Given the description of an element on the screen output the (x, y) to click on. 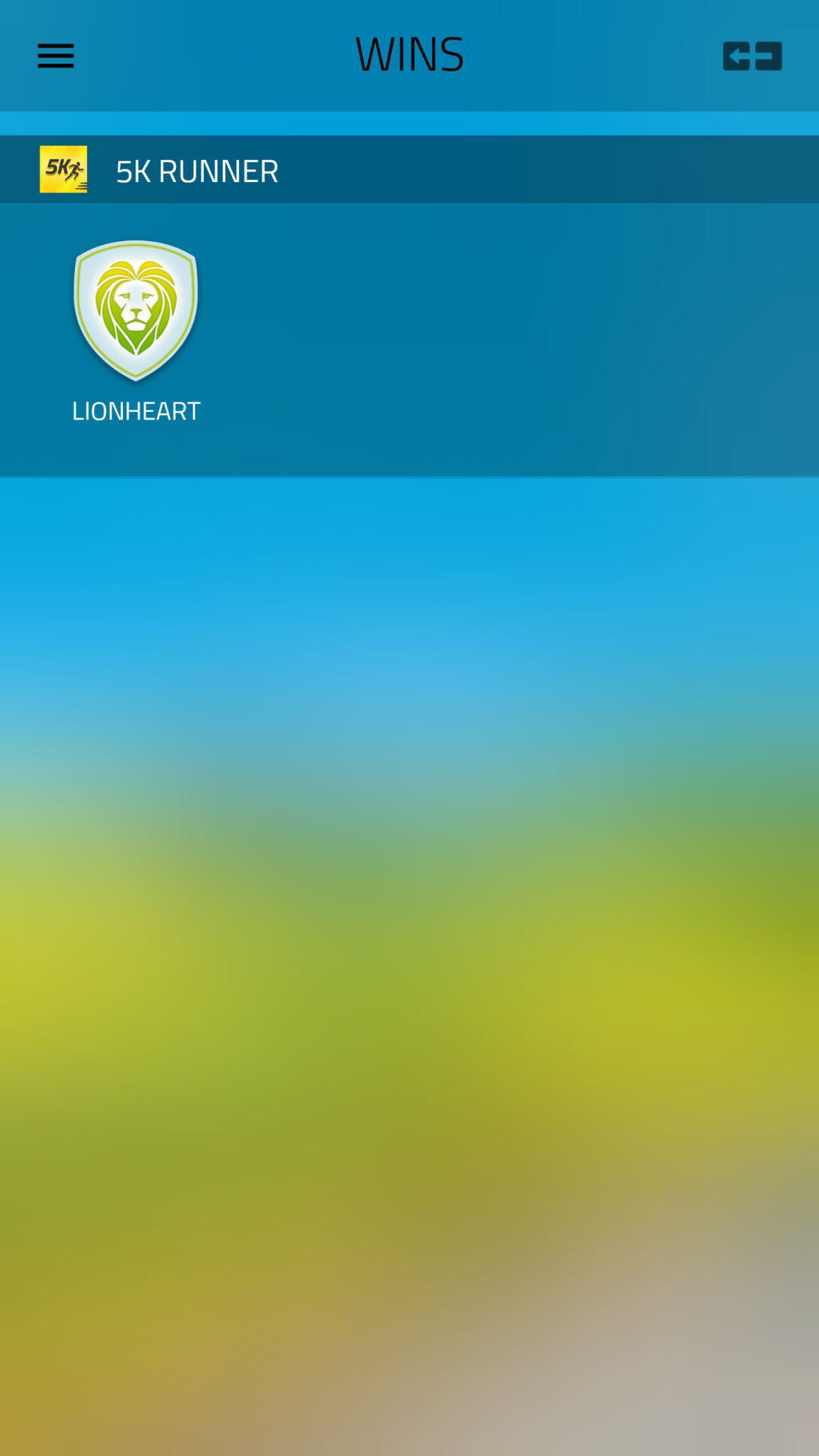
scroll to 5k runner icon (335, 169)
